Given the description of an element on the screen output the (x, y) to click on. 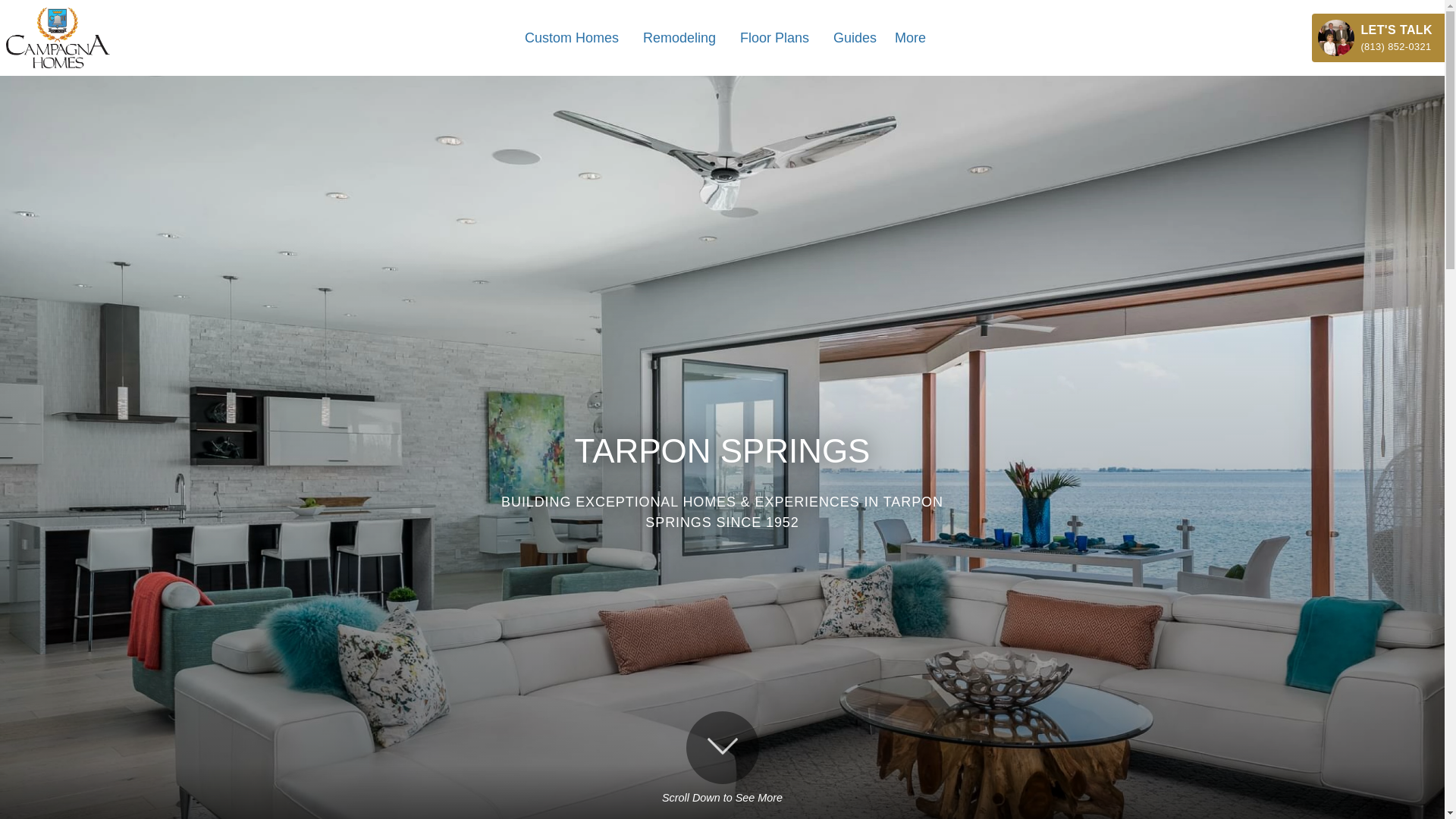
Free Guides to Build Custom Dream Homes by Campagna Homes (854, 37)
Custom Homes (571, 37)
Best Custom Home Builders In Tampa Florida I Campagna Homes (679, 37)
Floor Plans (774, 37)
Luxury Custom Build Home Floor Plans for Tampa Bay Florida (774, 37)
Remodeling (679, 37)
Guides (854, 37)
More (909, 37)
Award-Winning Custom Home Builders In Tampa Florida (571, 37)
